Given the description of an element on the screen output the (x, y) to click on. 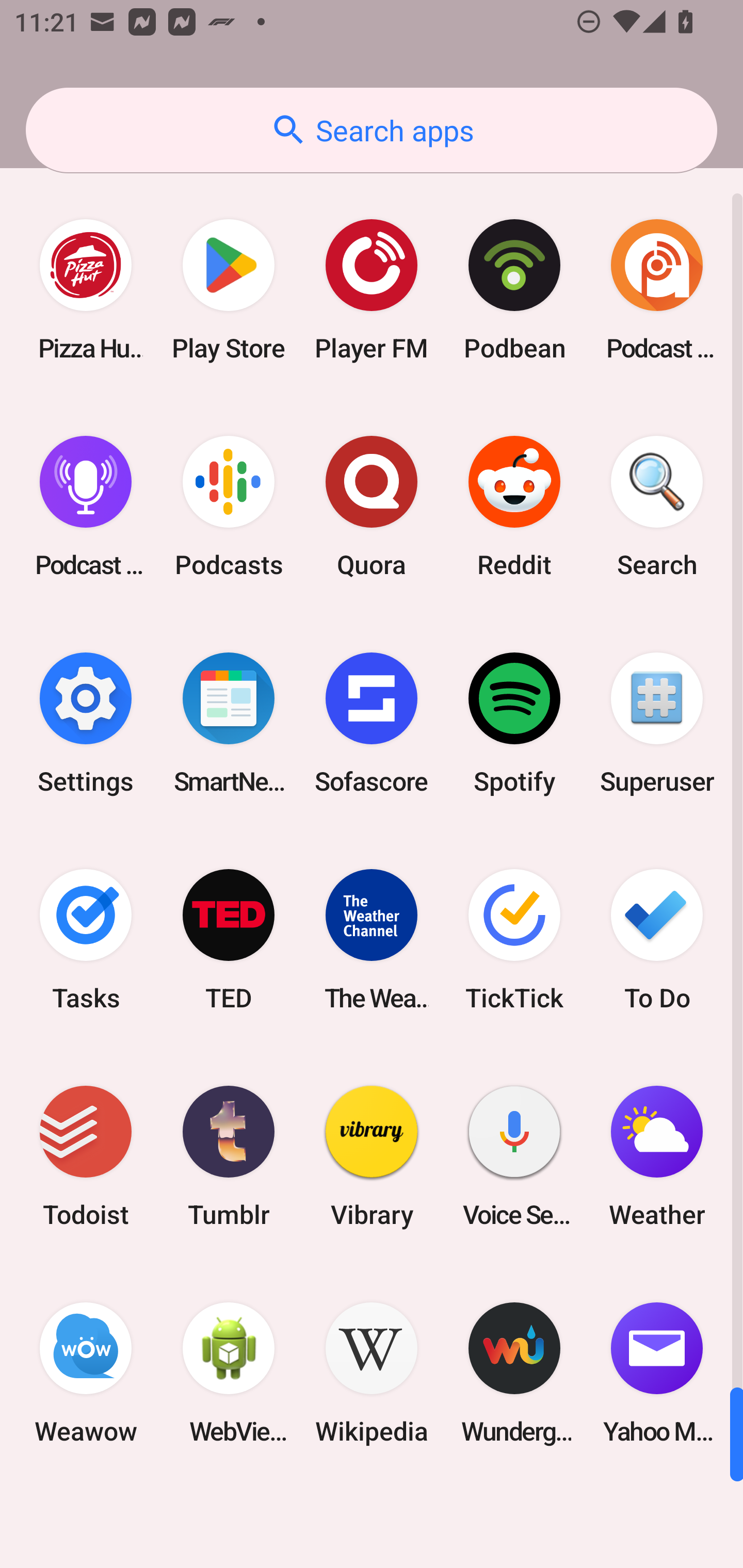
  Search apps (371, 130)
Pizza Hut HK & Macau (85, 289)
Play Store (228, 289)
Player FM (371, 289)
Podbean (514, 289)
Podcast Addict (656, 289)
Podcast Player (85, 506)
Podcasts (228, 506)
Quora (371, 506)
Reddit (514, 506)
Search (656, 506)
Settings (85, 722)
SmartNews (228, 722)
Sofascore (371, 722)
Spotify (514, 722)
Superuser (656, 722)
Tasks (85, 939)
TED (228, 939)
The Weather Channel (371, 939)
TickTick (514, 939)
To Do (656, 939)
Todoist (85, 1156)
Tumblr (228, 1156)
Vibrary (371, 1156)
Voice Search (514, 1156)
Weather (656, 1156)
Weawow (85, 1373)
WebView Browser Tester (228, 1373)
Wikipedia (371, 1373)
Wunderground (514, 1373)
Yahoo Mail (656, 1373)
